Given the description of an element on the screen output the (x, y) to click on. 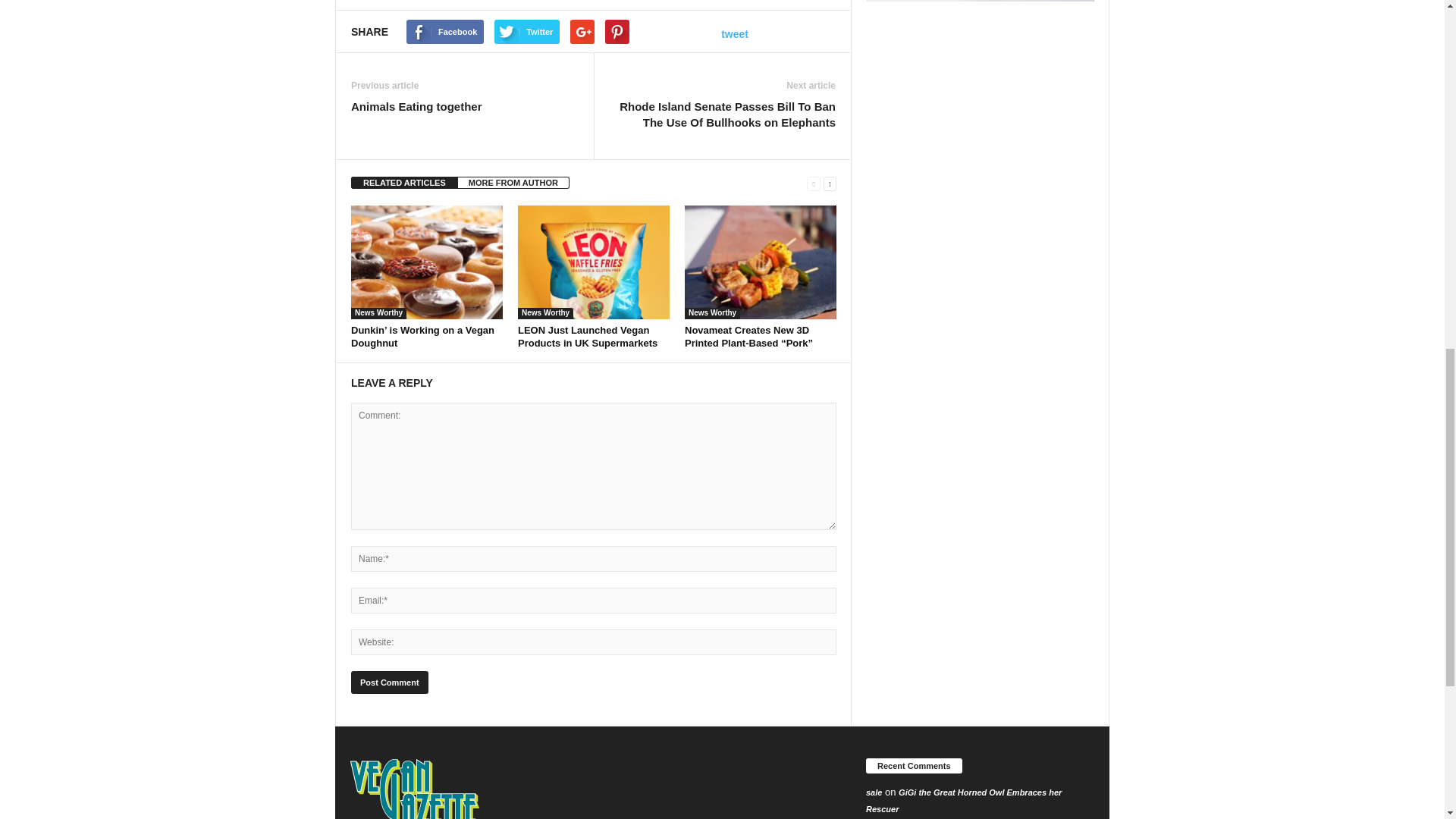
LEON Just Launched Vegan Products in UK Supermarkets (588, 336)
Post Comment (389, 681)
LEON Just Launched Vegan Products in UK Supermarkets (593, 262)
